Given the description of an element on the screen output the (x, y) to click on. 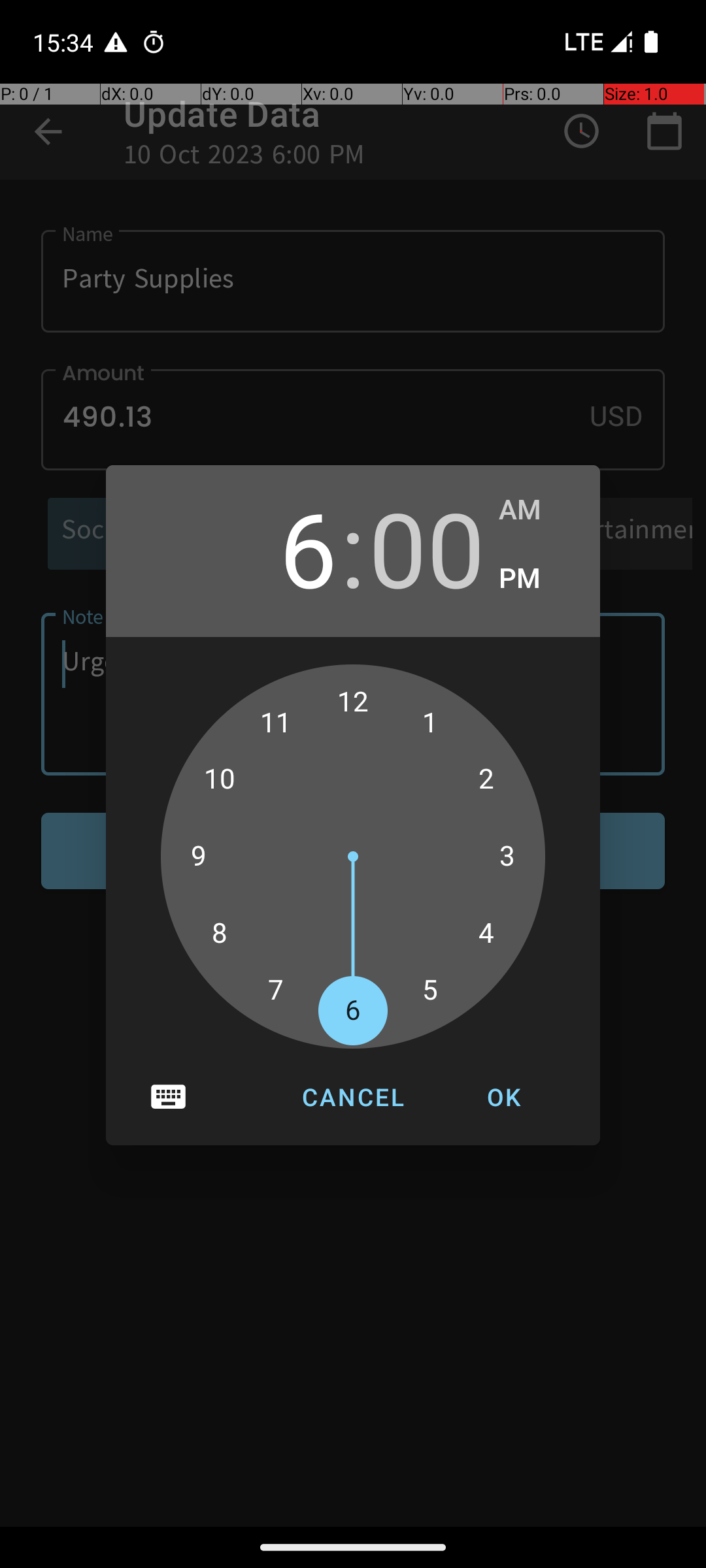
AM Element type: android.widget.RadioButton (535, 510)
PM Element type: android.widget.RadioButton (535, 578)
